Given the description of an element on the screen output the (x, y) to click on. 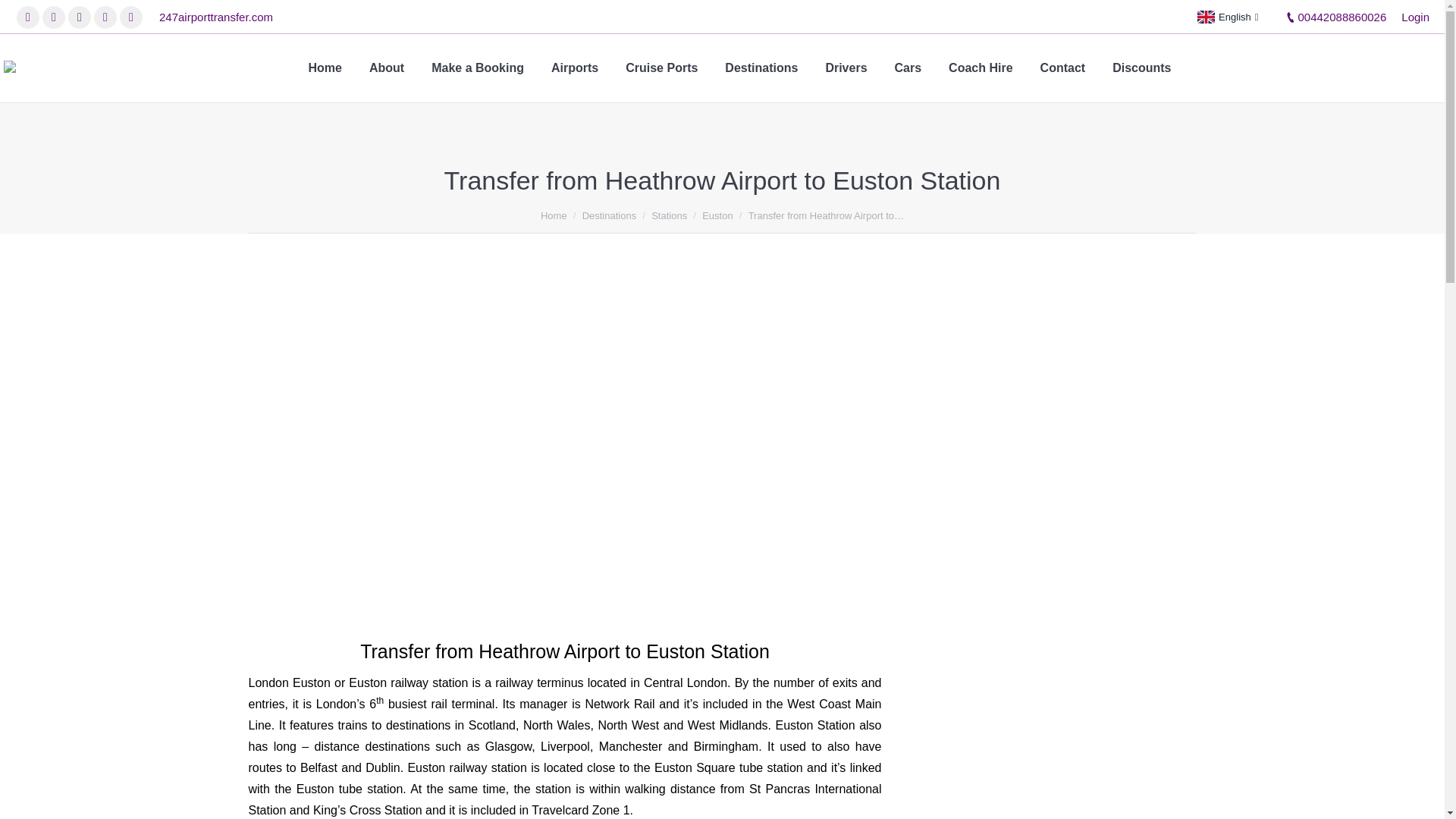
Instagram (79, 16)
About (386, 67)
Facebook (27, 16)
YouTube (105, 16)
YouTube (105, 16)
Make a Booking (477, 67)
Twitter (53, 16)
Airports (574, 67)
English (1226, 16)
Facebook (27, 16)
